Given the description of an element on the screen output the (x, y) to click on. 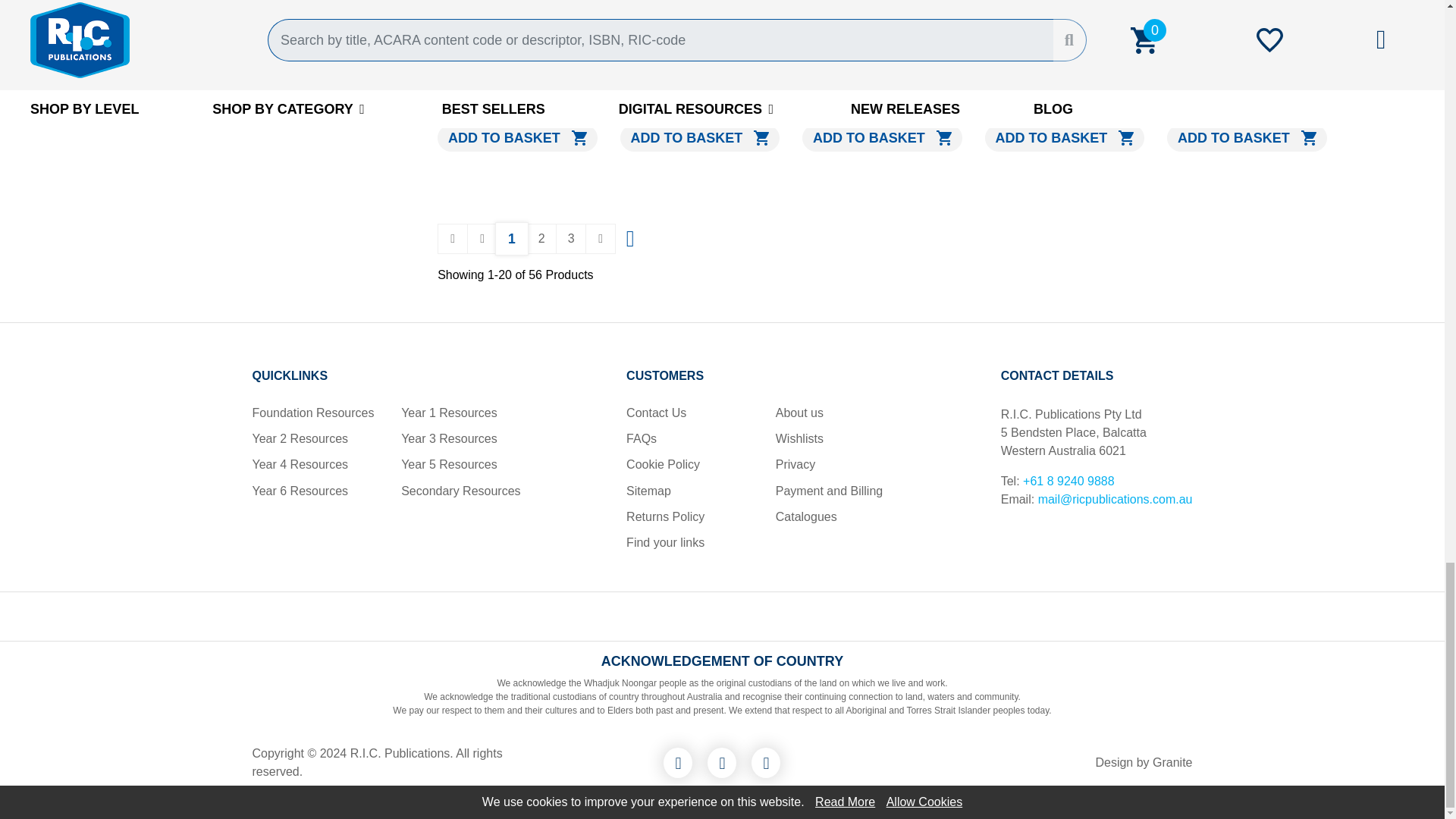
Cookie Policy (663, 463)
Year 2 Resources (299, 438)
Year 4 Resources (299, 463)
Foundation Resources (312, 412)
About us (800, 412)
Year 3 Resources (449, 438)
Sitemap (648, 490)
Contact Us (655, 412)
Year 1 Resources (449, 412)
Privacy (795, 463)
